Given the description of an element on the screen output the (x, y) to click on. 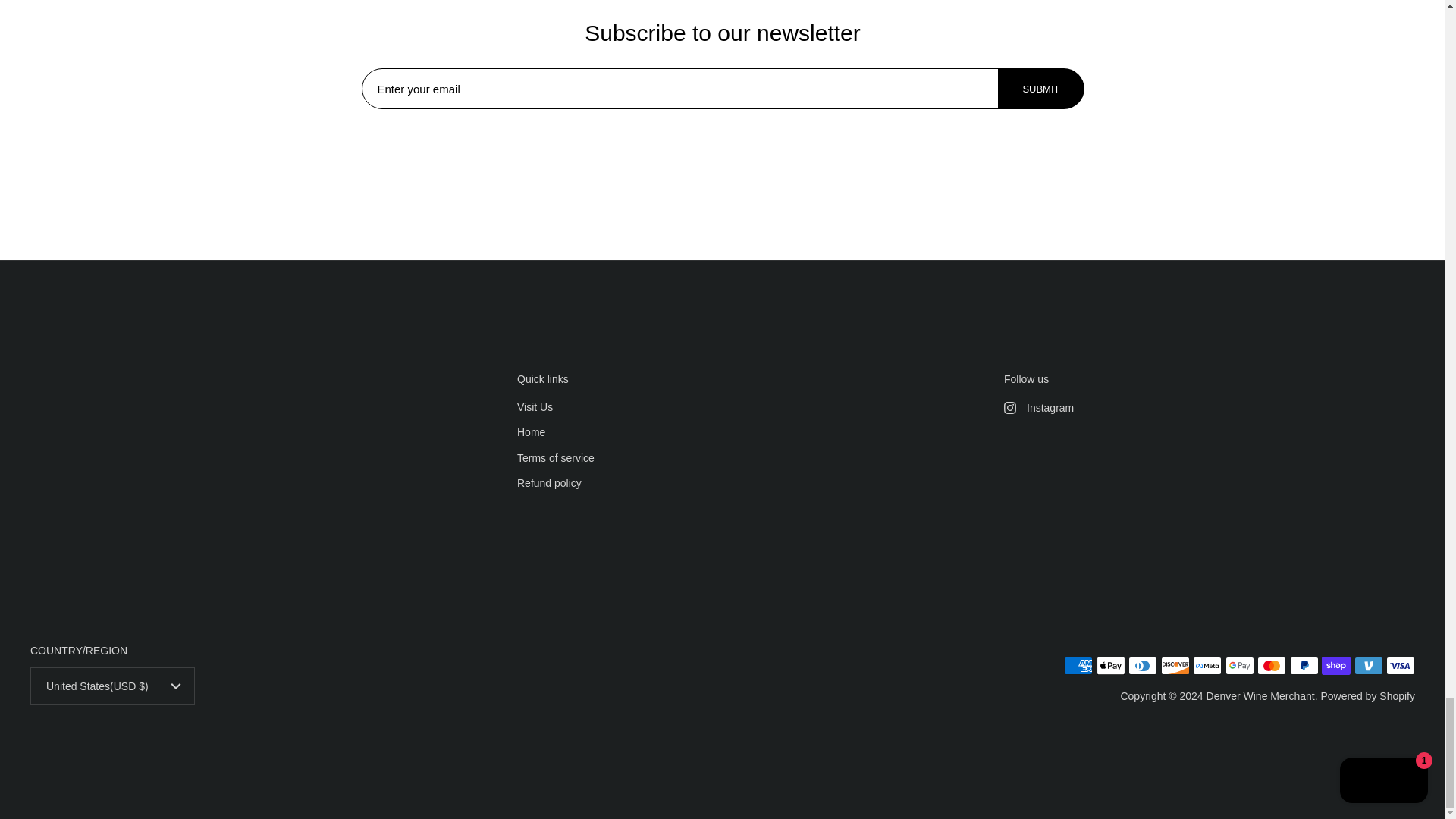
Powered by Shopify (1367, 695)
Terms of service (555, 459)
Google Pay (1239, 665)
Home (530, 432)
American Express (1078, 665)
Apple Pay (1110, 665)
Instagram (1209, 408)
Refund policy (548, 483)
SUBMIT (1040, 87)
Visit Us (534, 408)
Denver Wine Merchant (1260, 695)
Meta Pay (1206, 665)
Discover (1174, 665)
SUBMIT (1040, 89)
Diners Club (1142, 665)
